Given the description of an element on the screen output the (x, y) to click on. 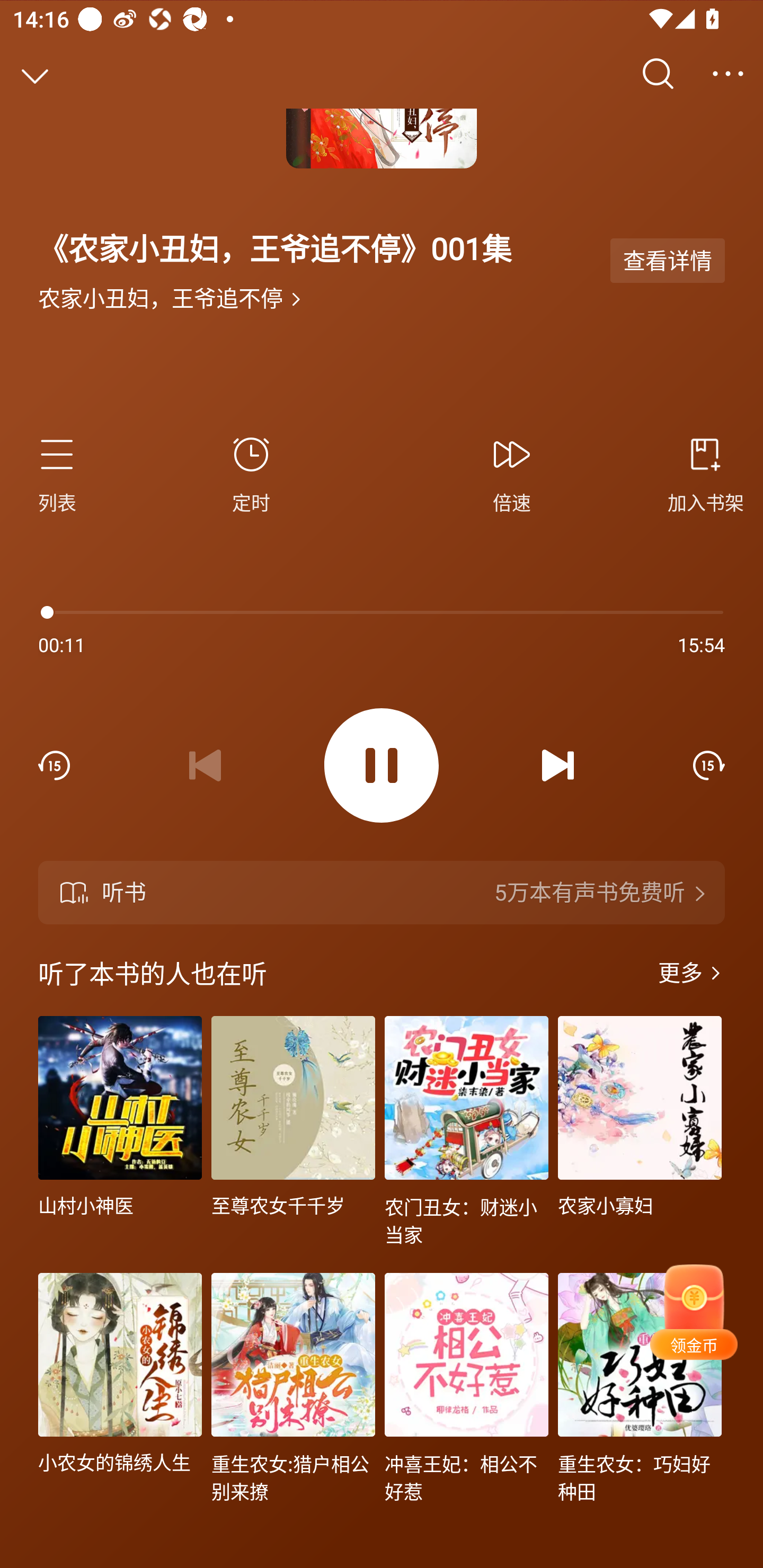
返回 (35, 73)
搜索 (657, 73)
更多 (727, 73)
查看详情 查看详情，按钮 (667, 260)
列表，按钮 列表 (64, 472)
定时，按钮 定时 (250, 472)
倍速，按钮 倍速 (511, 472)
加入书架，按钮 加入书架 (697, 472)
暂停 (381, 765)
后退十五秒 (53, 764)
上一篇 (204, 764)
下一篇 (557, 764)
前进十五秒 (708, 764)
听书 5万本有声书免费听 (381, 892)
更多 (690, 972)
